Given the description of an element on the screen output the (x, y) to click on. 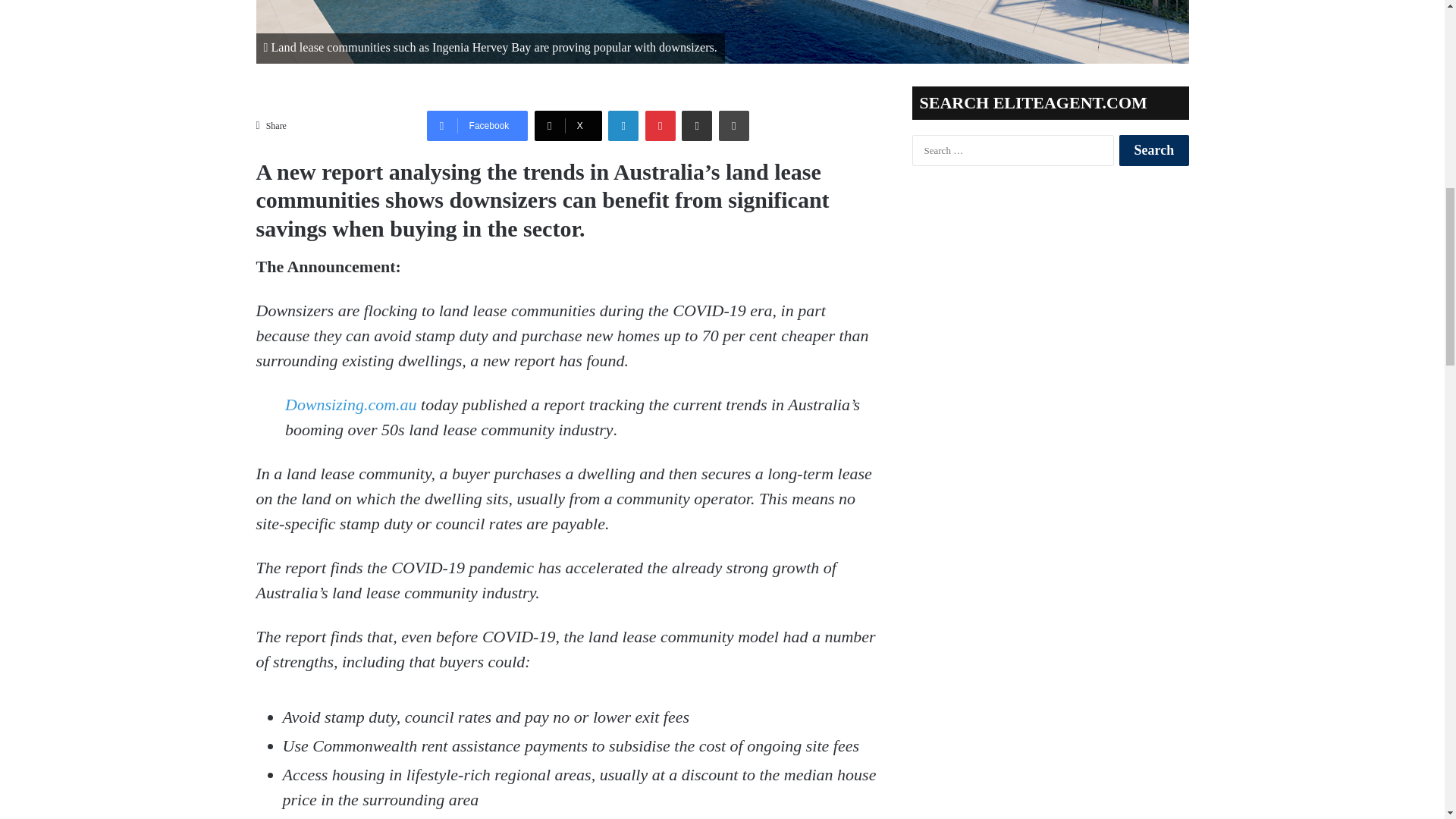
LinkedIn (623, 125)
Search (1153, 150)
Facebook (477, 125)
Search (1153, 150)
X (568, 125)
Print (734, 125)
Pinterest (660, 125)
Share via Email (696, 125)
